Given the description of an element on the screen output the (x, y) to click on. 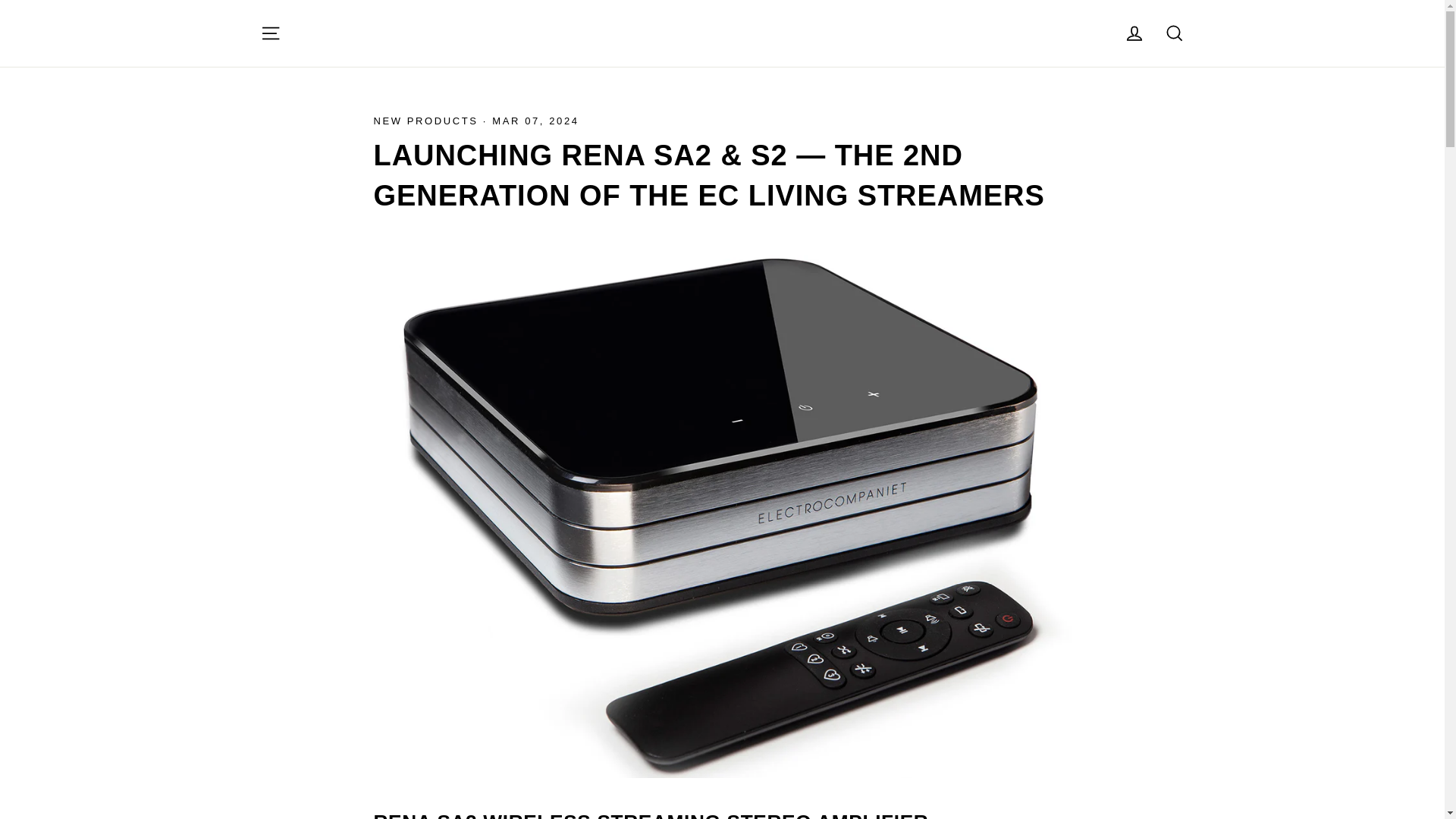
icon-search (1174, 33)
icon-hamburger (270, 33)
account (1134, 33)
